Given the description of an element on the screen output the (x, y) to click on. 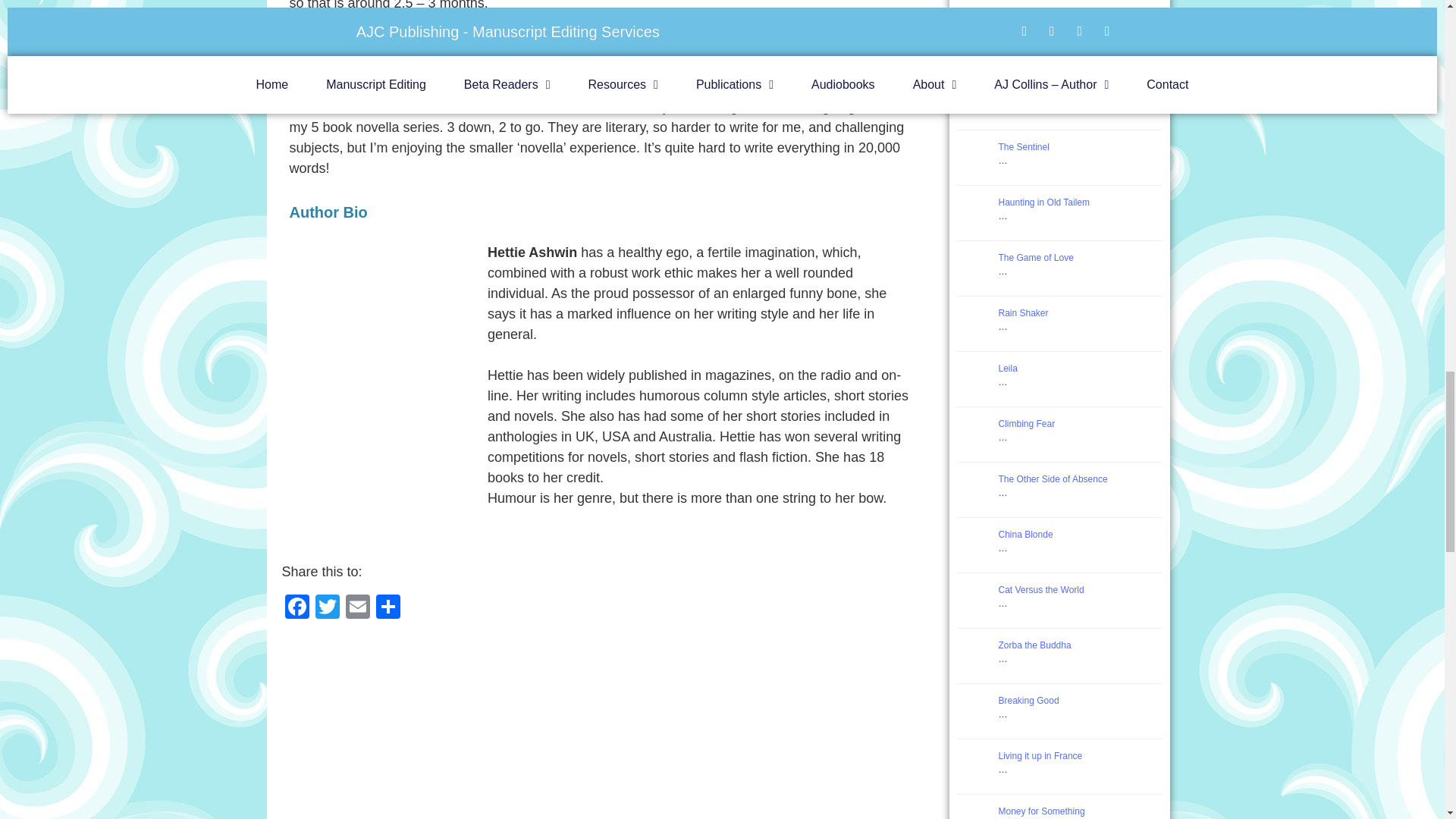
Facebook (297, 608)
Twitter (327, 608)
Email (357, 608)
